Given the description of an element on the screen output the (x, y) to click on. 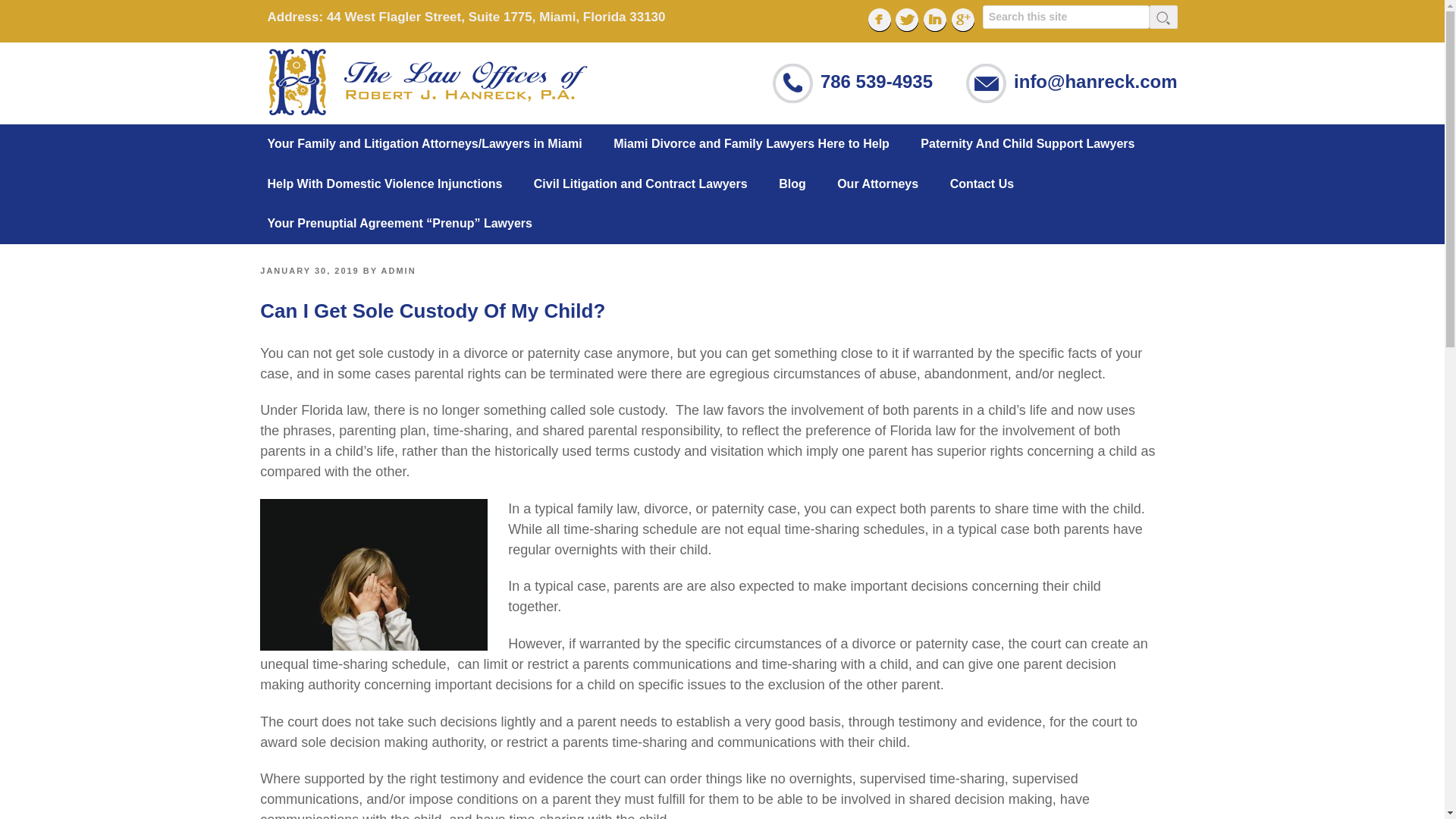
Contact Us (996, 183)
Search this site (1066, 16)
Paternity And Child Support Lawyers (1041, 144)
Miami Divorce and Family Lawyers Here to Help (764, 144)
LinkedIn (935, 19)
Twitter (906, 19)
786 539-4935 (877, 81)
Our Attorneys (892, 183)
